Given the description of an element on the screen output the (x, y) to click on. 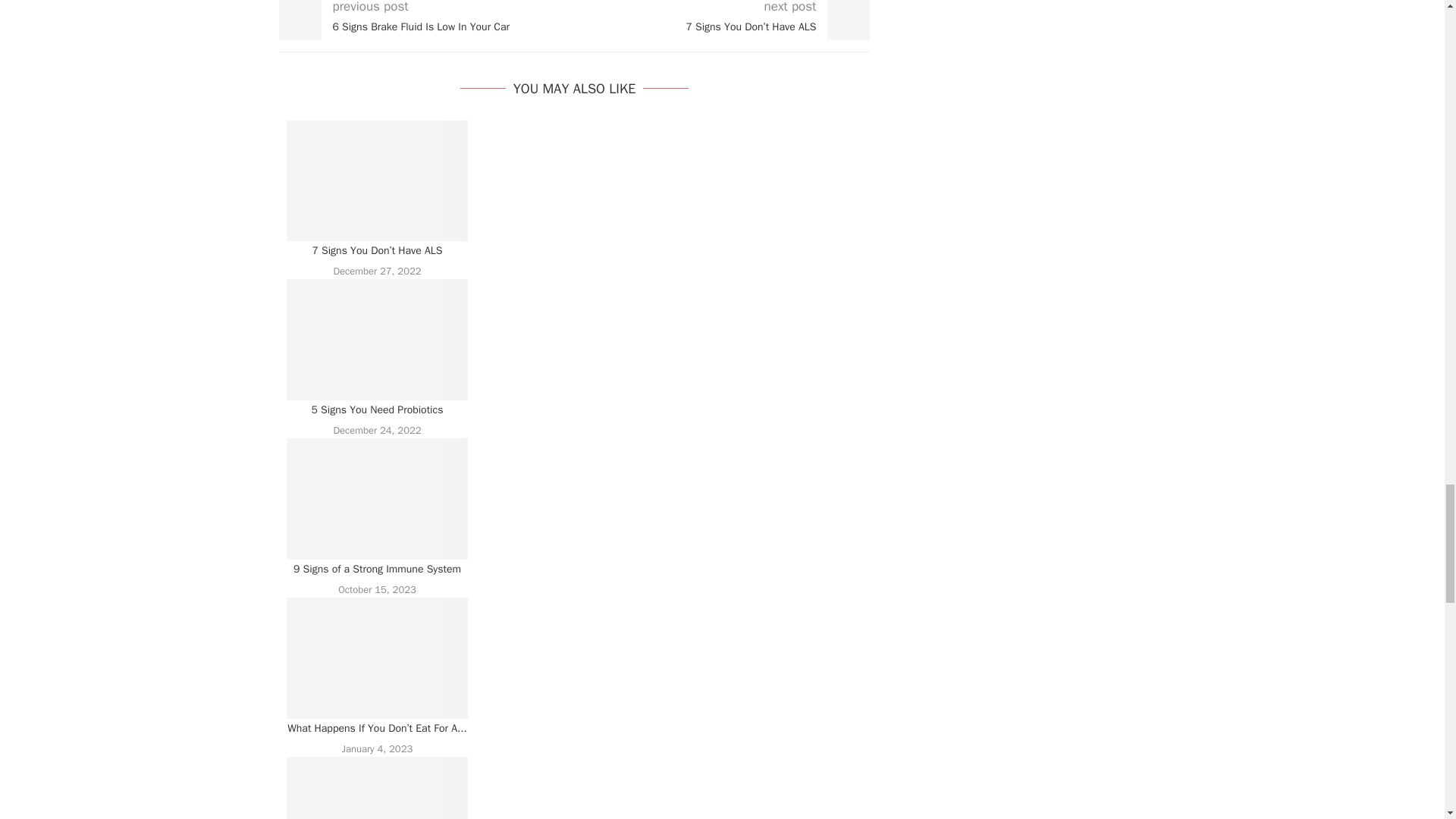
5 Signs You Need Probiotics (377, 339)
9 Signs of a Strong Immune System (377, 498)
